Given the description of an element on the screen output the (x, y) to click on. 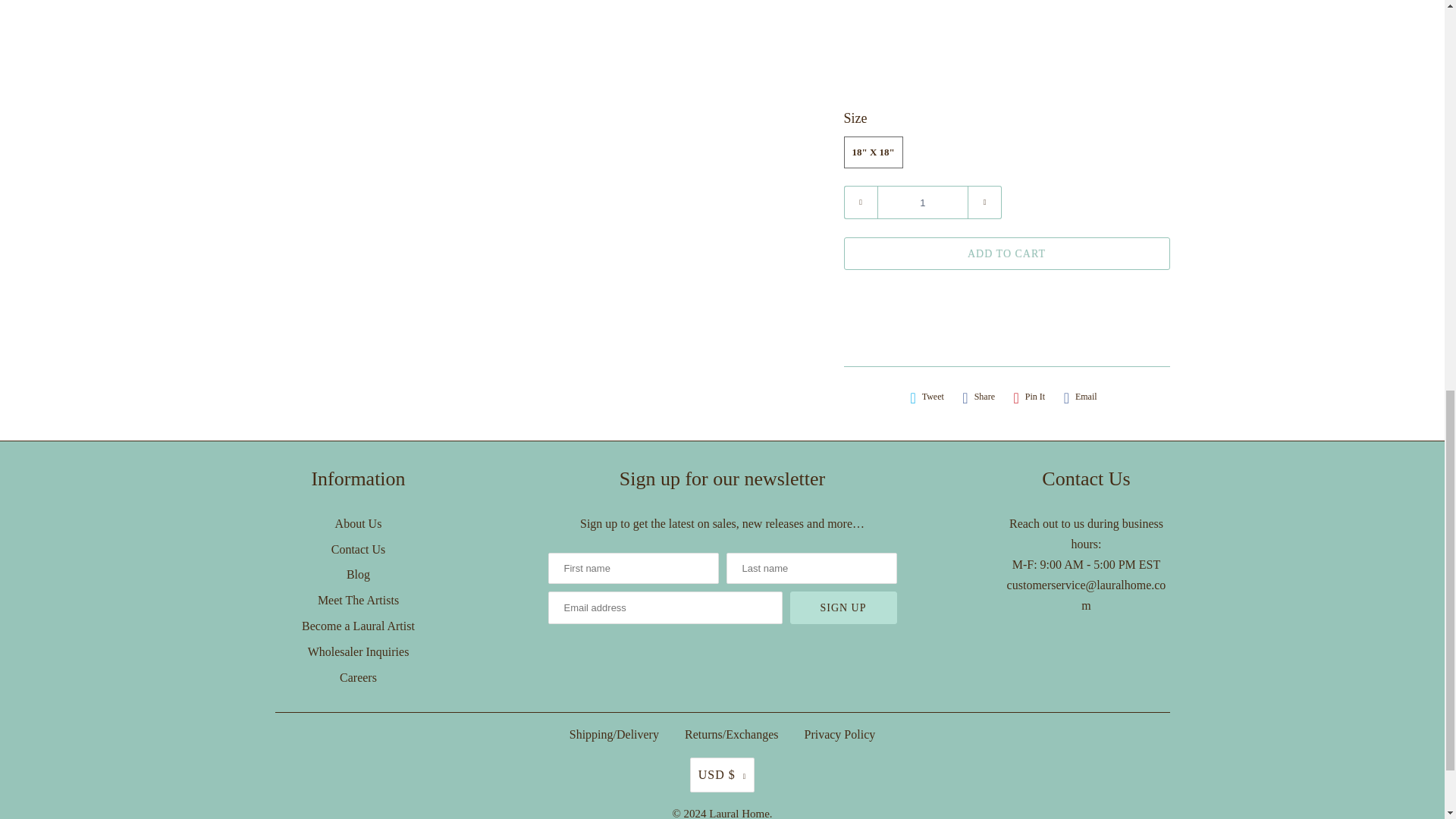
1 (922, 202)
Email this to a friend (1080, 396)
Share this on Pinterest (1029, 396)
Share this on Facebook (978, 396)
Sign Up (843, 607)
Share this on Twitter (926, 396)
